Given the description of an element on the screen output the (x, y) to click on. 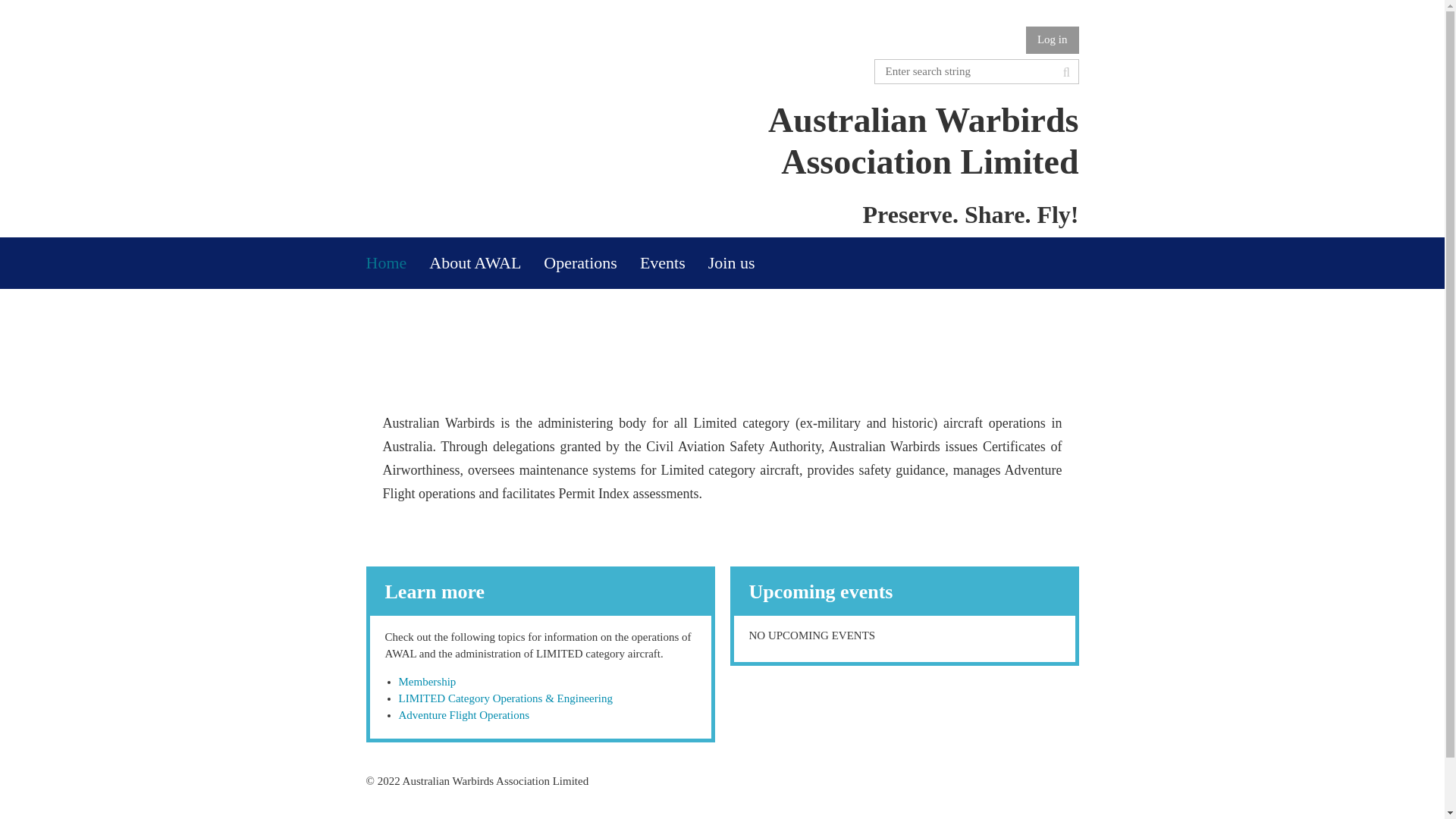
Events (673, 263)
Facebook (374, 811)
About AWAL (486, 263)
Operations (591, 263)
Home (397, 263)
Membership (427, 681)
About AWAL (486, 263)
Events (673, 263)
Home (397, 263)
Join us (742, 263)
